Given the description of an element on the screen output the (x, y) to click on. 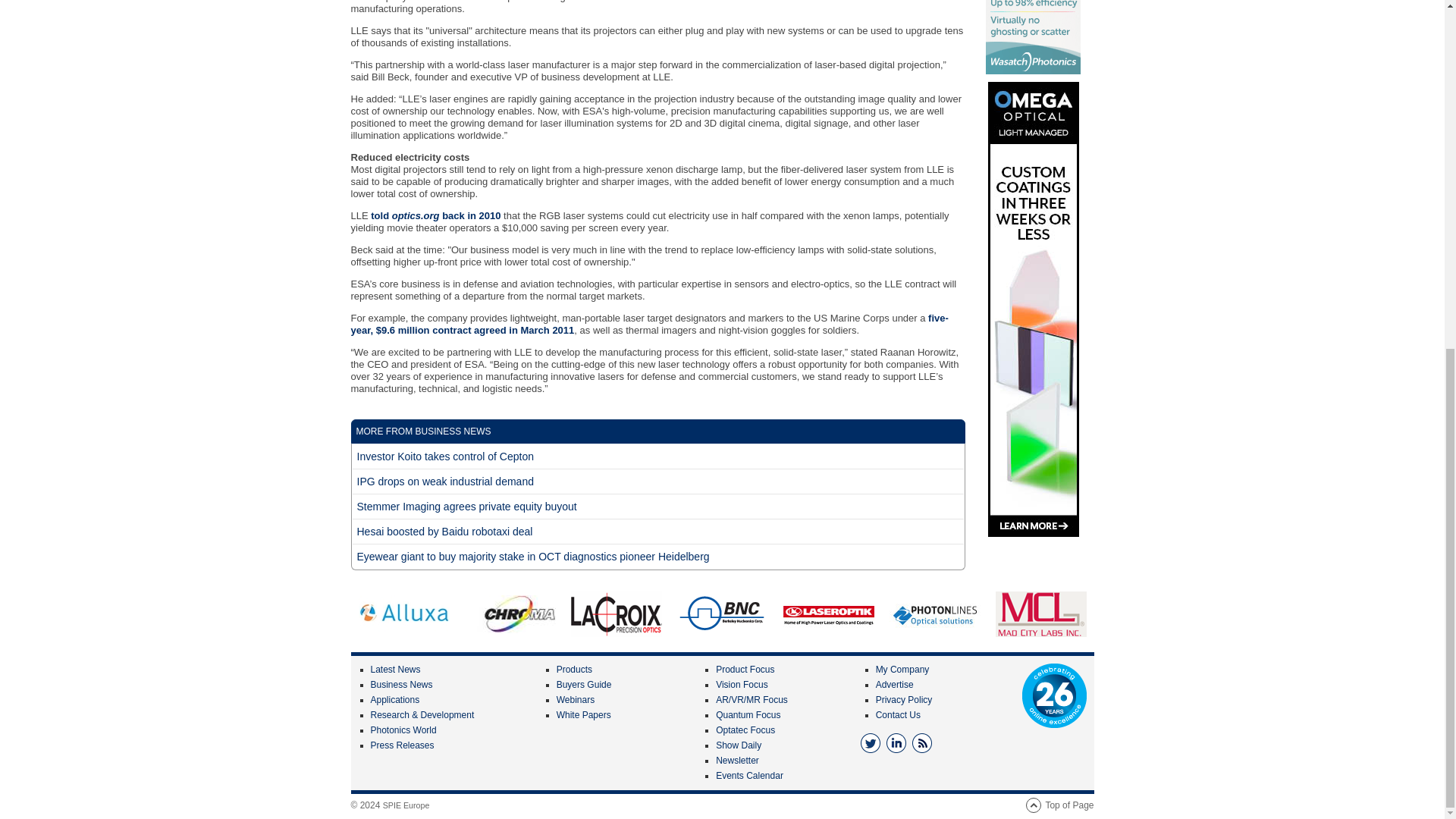
RSS Feeds (921, 742)
Twitter (870, 742)
LinkedIn (895, 742)
